Given the description of an element on the screen output the (x, y) to click on. 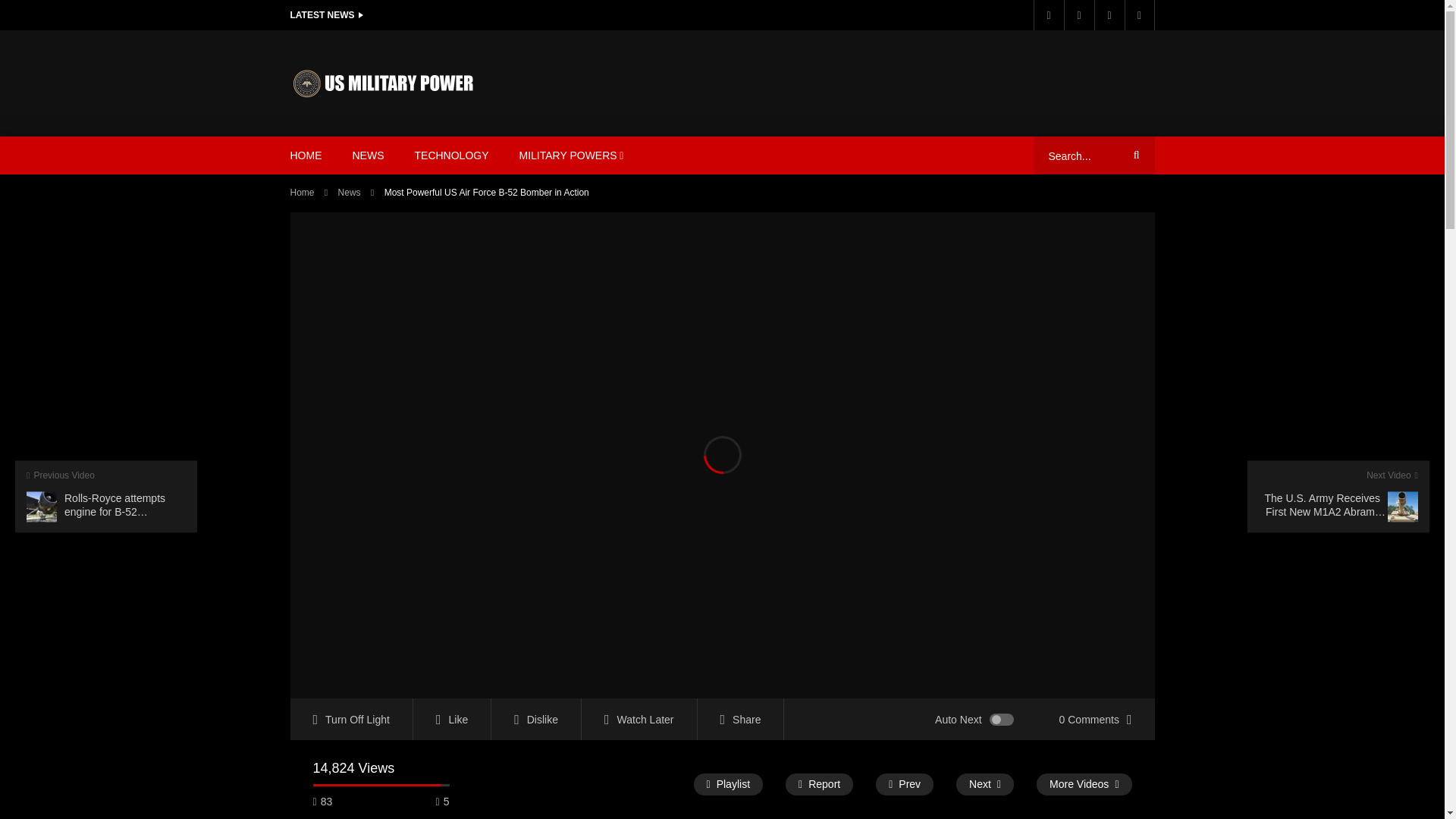
Facebook (1047, 15)
US Military Power (384, 82)
TECHNOLOGY (450, 155)
Search (1133, 155)
NEWS (367, 155)
HOME (305, 155)
Twitter (1077, 15)
0 Comments (1095, 719)
News (349, 192)
Home (301, 192)
The U.S. Army Receives First New M1A2 Abrams Tank Prototype (1338, 496)
MILITARY POWERS (571, 155)
